Given the description of an element on the screen output the (x, y) to click on. 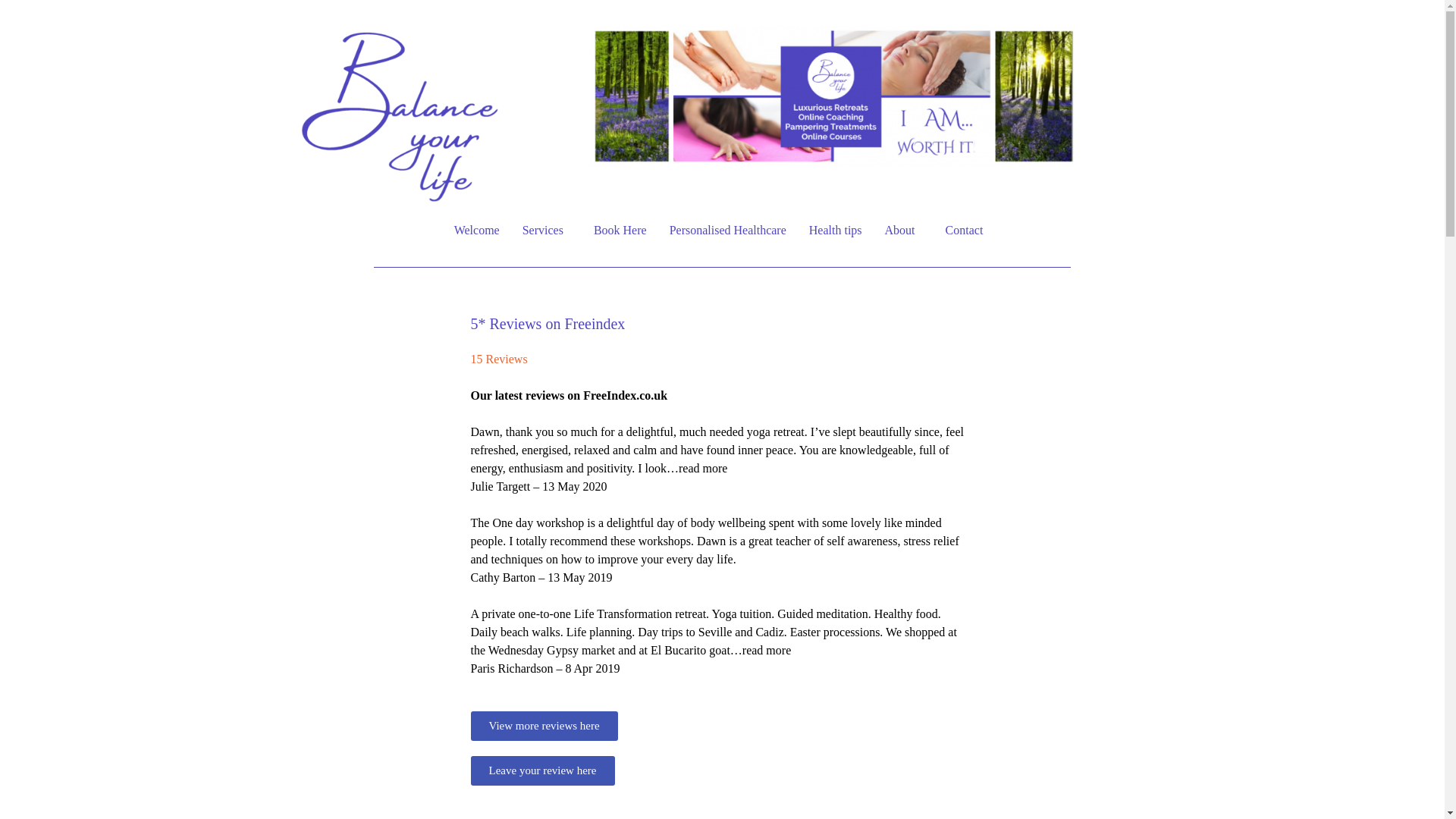
15 Reviews (498, 358)
About (903, 230)
Leave your review here (542, 770)
Contact (968, 230)
Review written by Paris Richardson (719, 596)
Personalised Healthcare (727, 230)
Review written by Julie Targett (719, 413)
Health tips (835, 230)
Welcome (476, 230)
Services (546, 230)
View more reviews here (543, 726)
Book Here (620, 230)
Average rating of 5.0 based on 15 reviews (719, 377)
Review written by Cathy Barton (719, 505)
